Given the description of an element on the screen output the (x, y) to click on. 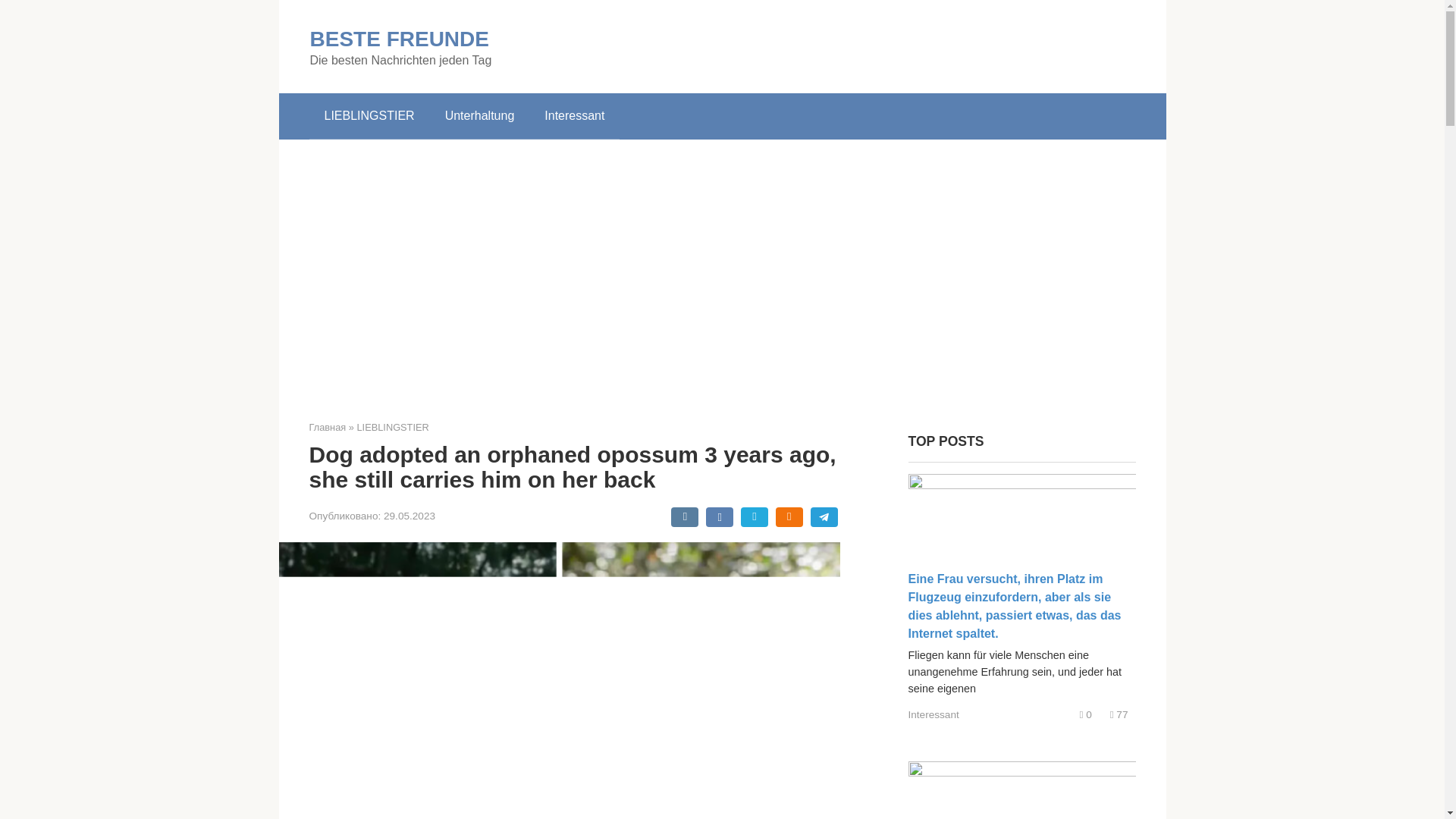
LIEBLINGSTIER (368, 115)
Interessant (574, 115)
LIEBLINGSTIER (392, 427)
BESTE FREUNDE (397, 38)
Interessant (933, 714)
Unterhaltung (479, 115)
